Given the description of an element on the screen output the (x, y) to click on. 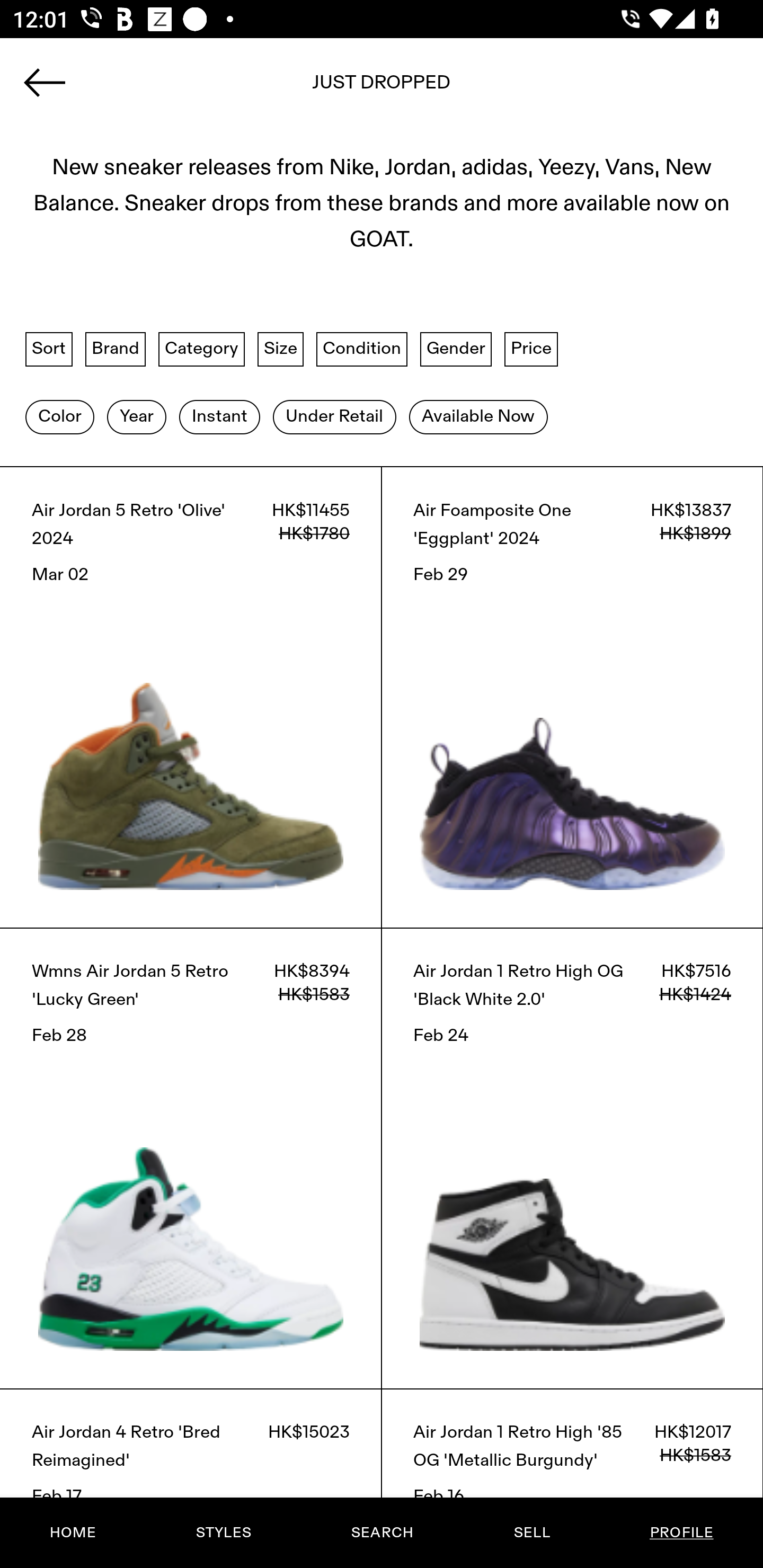
Search (381, 88)
Sort (48, 348)
Brand (115, 348)
Category (201, 348)
Size (280, 348)
Condition (361, 348)
Gender (455, 348)
Price (530, 348)
Color (59, 416)
Year (136, 416)
Instant (219, 416)
Under Retail (334, 416)
Available Now (477, 416)
HOME (72, 1532)
STYLES (222, 1532)
SEARCH (381, 1532)
SELL (531, 1532)
PROFILE (681, 1532)
